Given the description of an element on the screen output the (x, y) to click on. 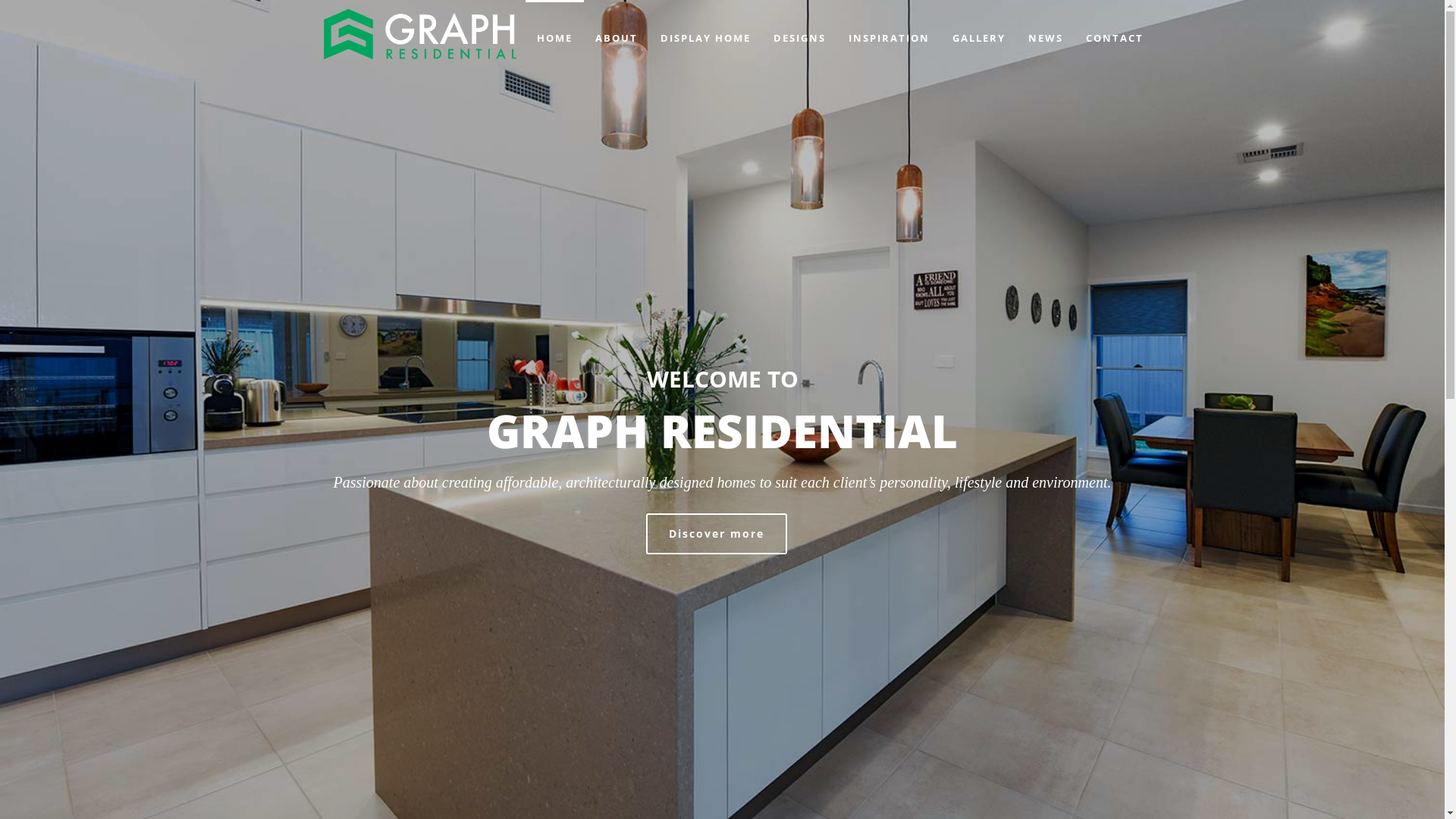
DESIGNS Element type: text (798, 34)
ABOUT Element type: text (616, 34)
NEWS Element type: text (1044, 34)
Discover more Element type: text (716, 532)
GALLERY Element type: text (978, 34)
INSPIRATION Element type: text (889, 34)
CONTACT Element type: text (1113, 34)
DISPLAY HOME Element type: text (705, 34)
A home designed with you in mind Element type: hover (418, 34)
HOME Element type: text (553, 34)
